Given the description of an element on the screen output the (x, y) to click on. 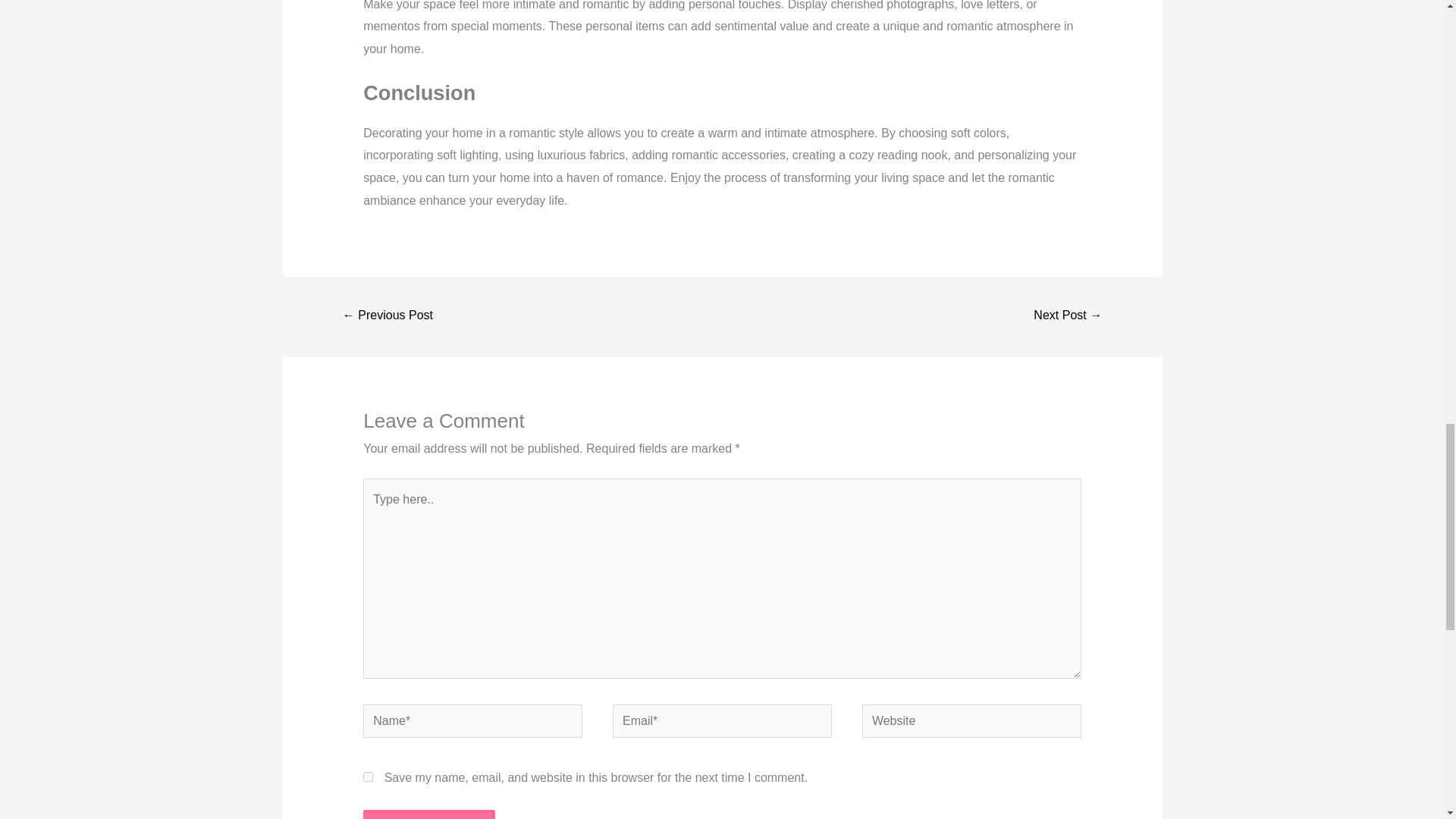
How Do Home Decorators Buy On The Cheap (387, 316)
How Do I Decorate My Home In Skyrim Proudspire (1066, 316)
yes (367, 777)
